Given the description of an element on the screen output the (x, y) to click on. 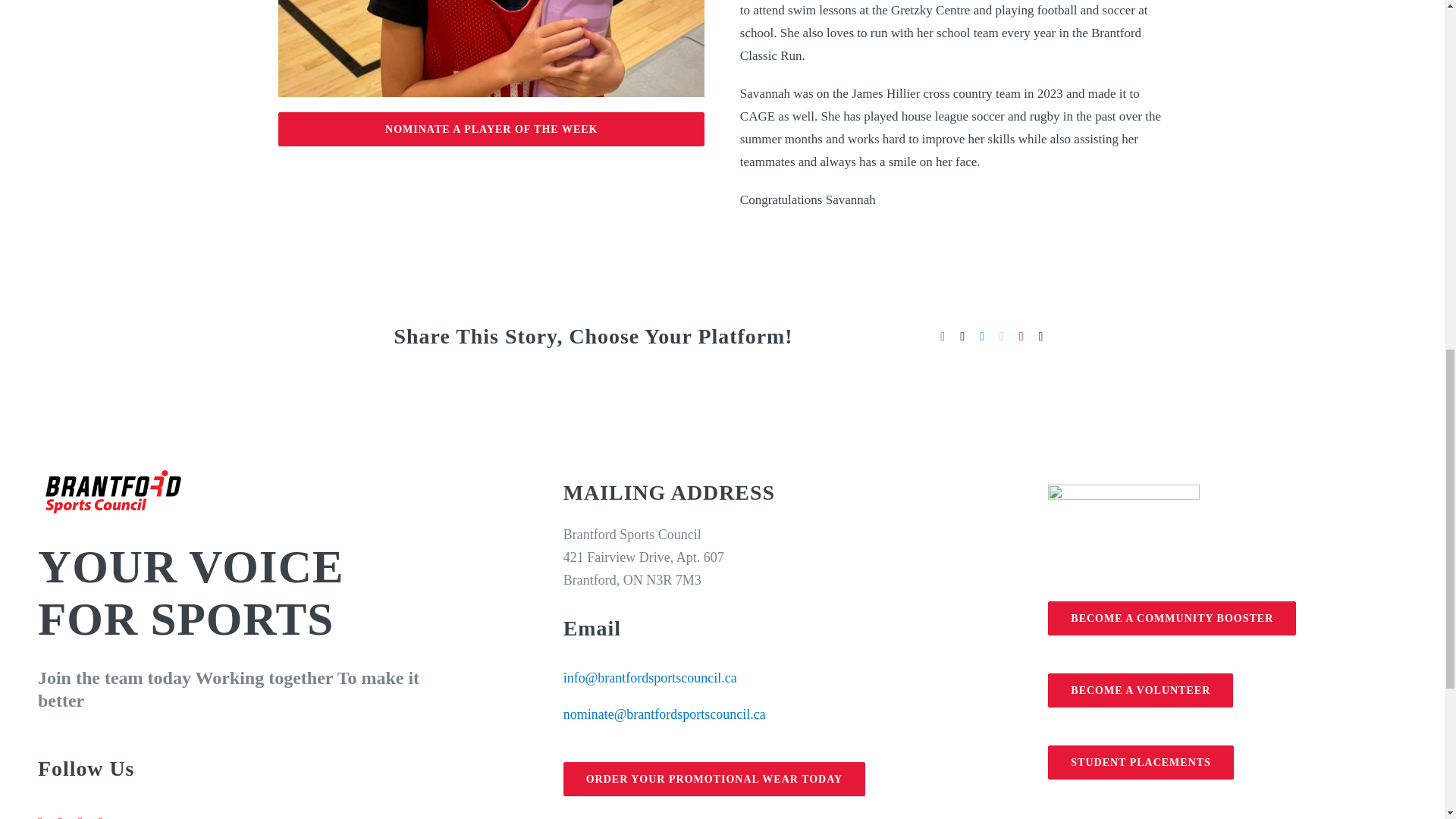
Community Sports Council Member (1123, 535)
BSC-logo2 (113, 492)
Savannah Hotte PLAYER OF THE WEEK (491, 48)
